Given the description of an element on the screen output the (x, y) to click on. 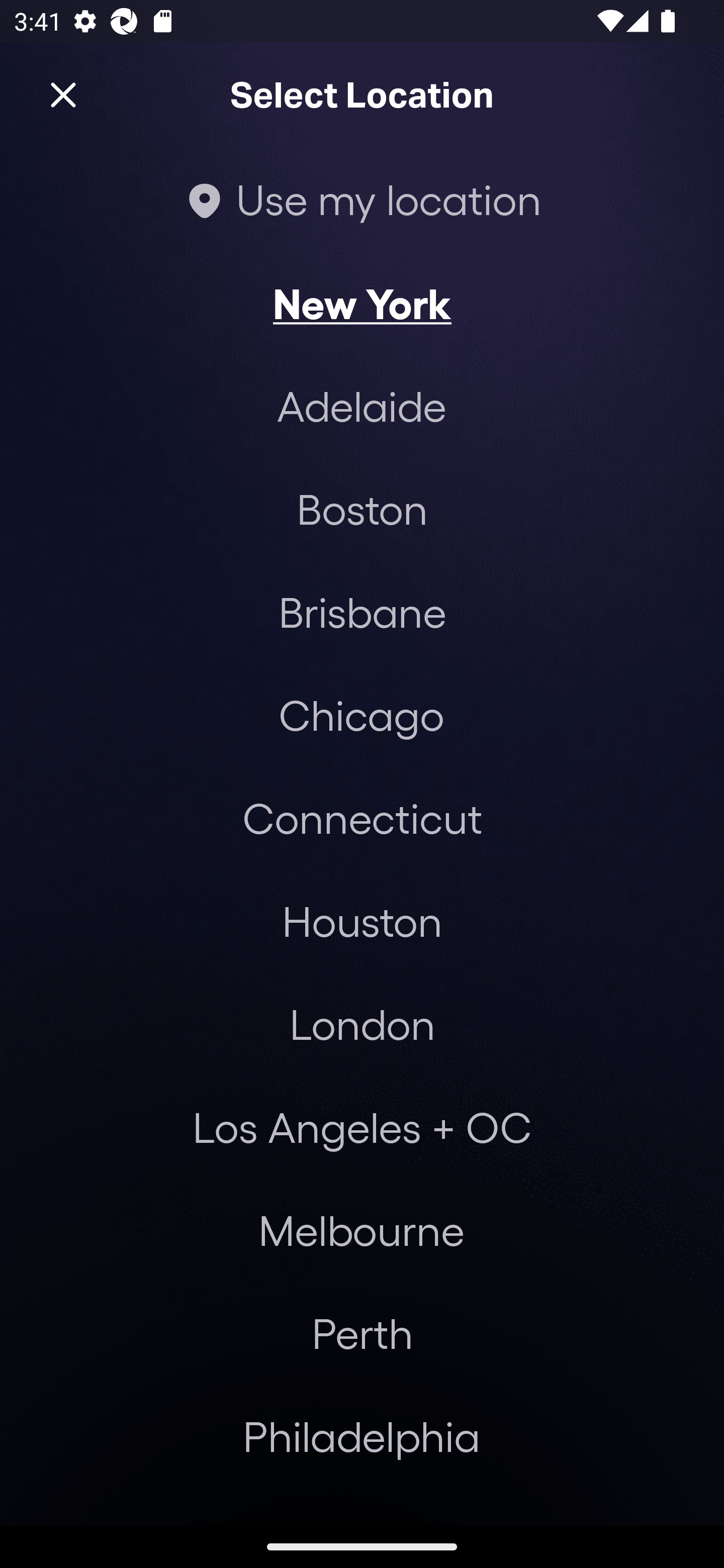
Close (62, 95)
   Use my location (362, 198)
New York (361, 302)
Adelaide (361, 405)
Boston (361, 508)
Brisbane (361, 611)
Chicago (361, 714)
Connecticut (361, 817)
Houston (361, 920)
London (361, 1023)
Los Angeles + OC (361, 1127)
Melbourne (361, 1230)
Perth (361, 1332)
Philadelphia (361, 1436)
